Given the description of an element on the screen output the (x, y) to click on. 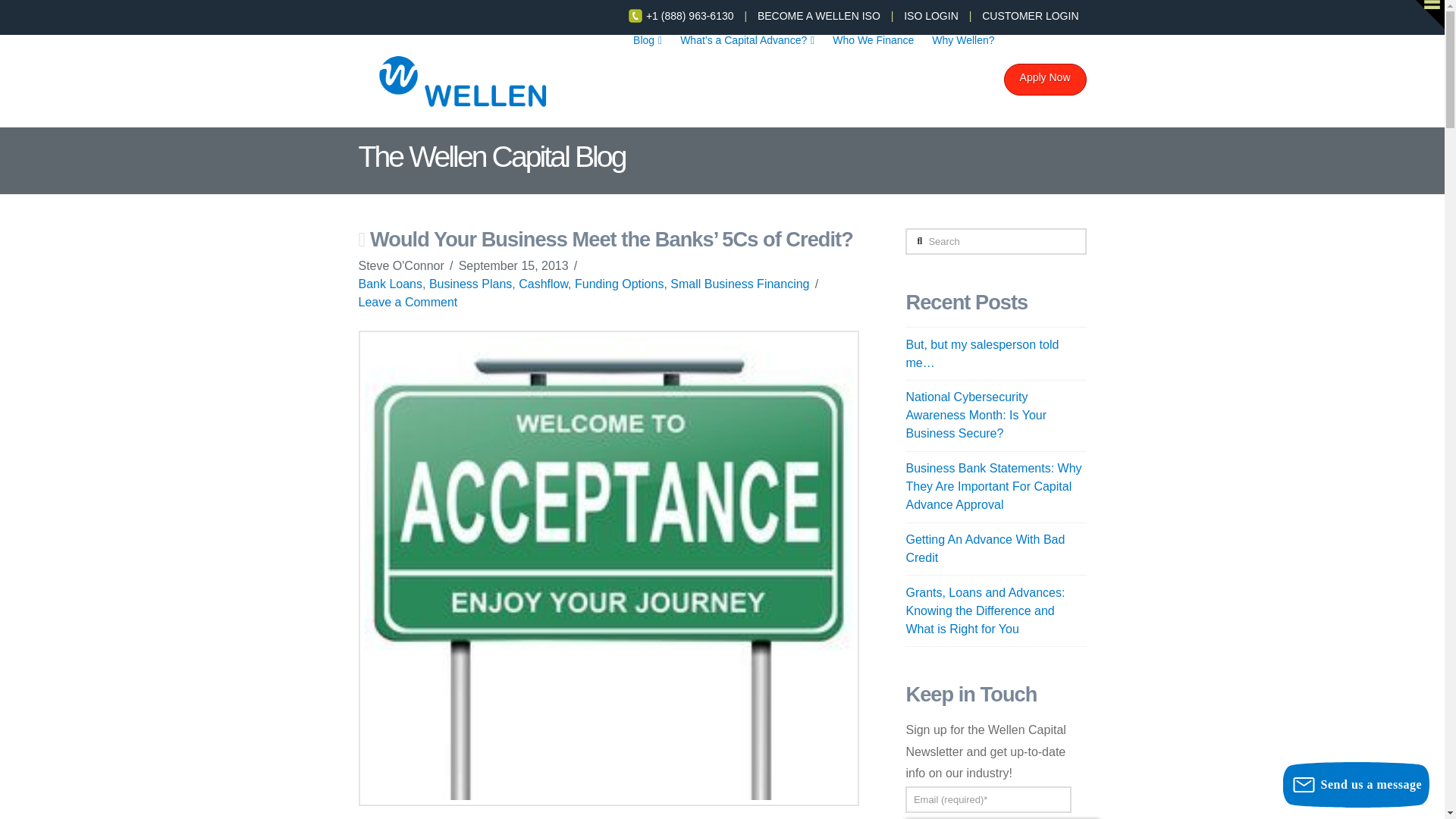
Who We Finance (873, 76)
BECOME A WELLEN ISO (818, 15)
Why Wellen? (963, 76)
ISO LOGIN (931, 15)
CUSTOMER LOGIN (1029, 15)
